Given the description of an element on the screen output the (x, y) to click on. 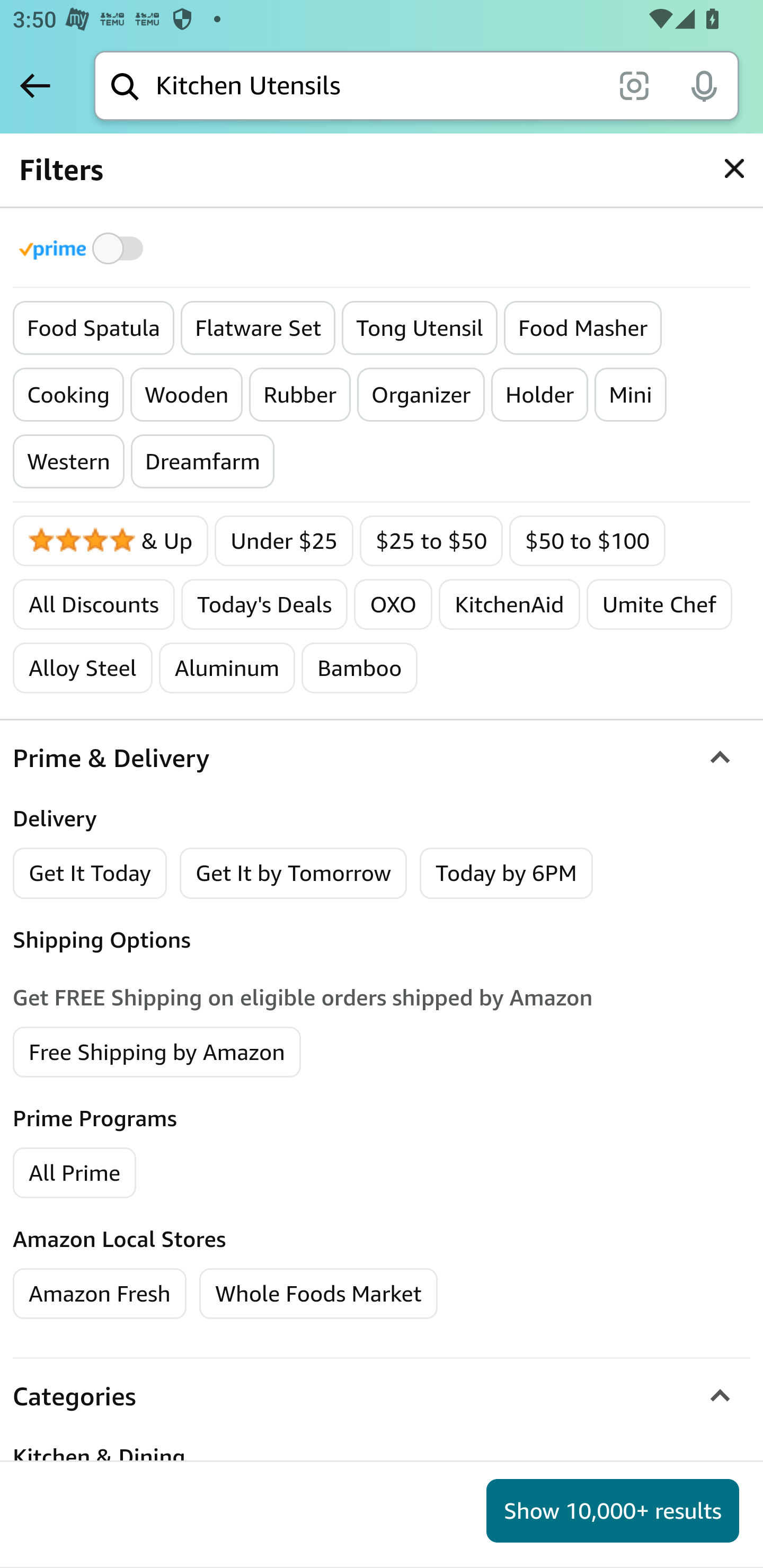
Back (35, 85)
scan it (633, 85)
Toggle to filter by Prime products Prime Eligible (83, 247)
Food Spatula (93, 328)
Flatware Set (258, 328)
Tong Utensil (419, 328)
Food Masher (582, 328)
Cooking (68, 394)
Wooden (186, 394)
Rubber (298, 394)
Organizer (421, 394)
Holder (540, 394)
Mini (630, 394)
Western (68, 461)
Dreamfarm (202, 461)
4 Stars & Up (110, 540)
Under $25 (284, 540)
